Given the description of an element on the screen output the (x, y) to click on. 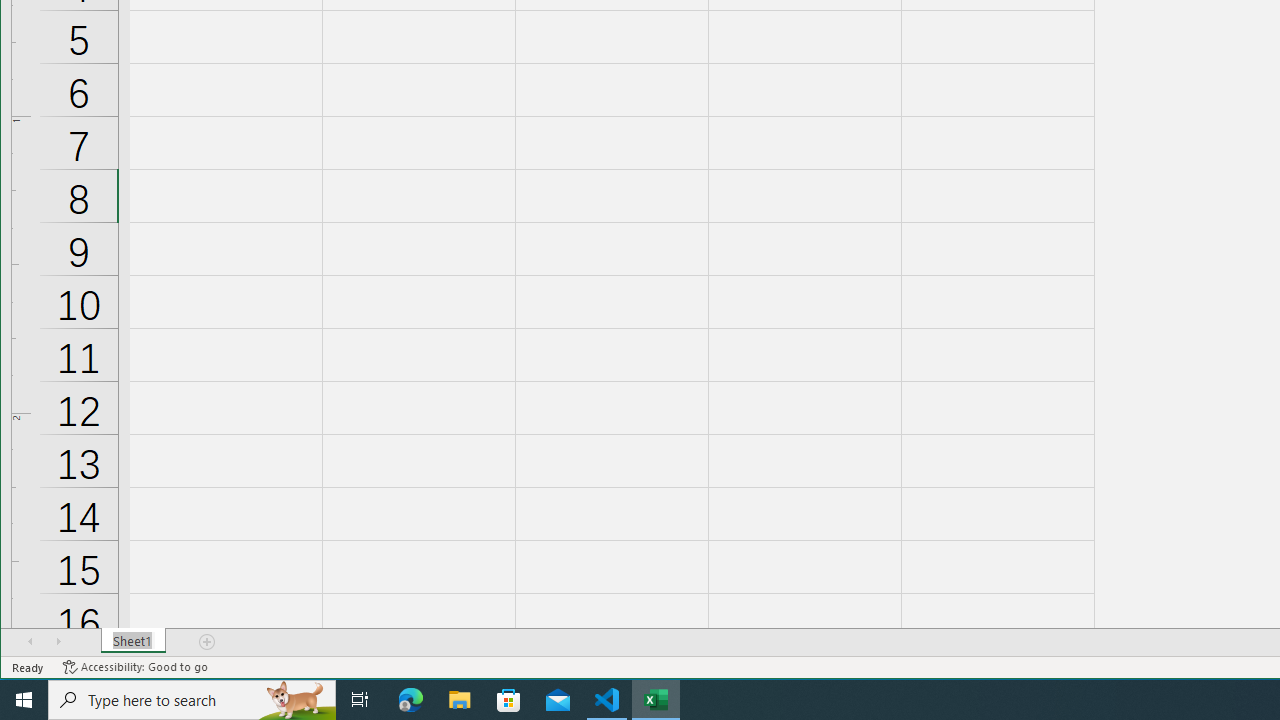
Type here to search (191, 699)
